Given the description of an element on the screen output the (x, y) to click on. 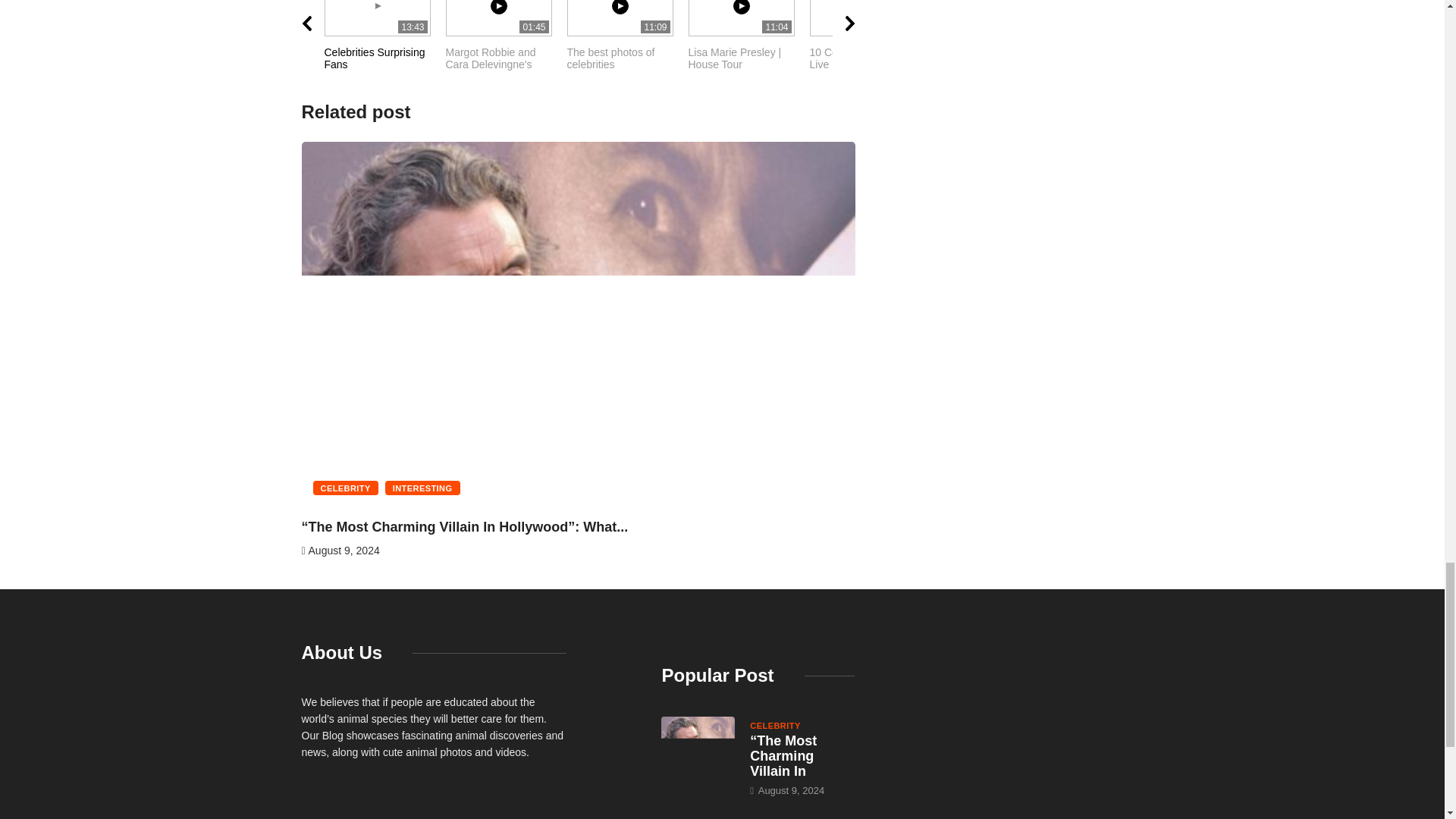
INTERESTING (627, 43)
CELEBRITY (422, 487)
10 Celebrities Who Live In Los Angeles (506, 43)
